Given the description of an element on the screen output the (x, y) to click on. 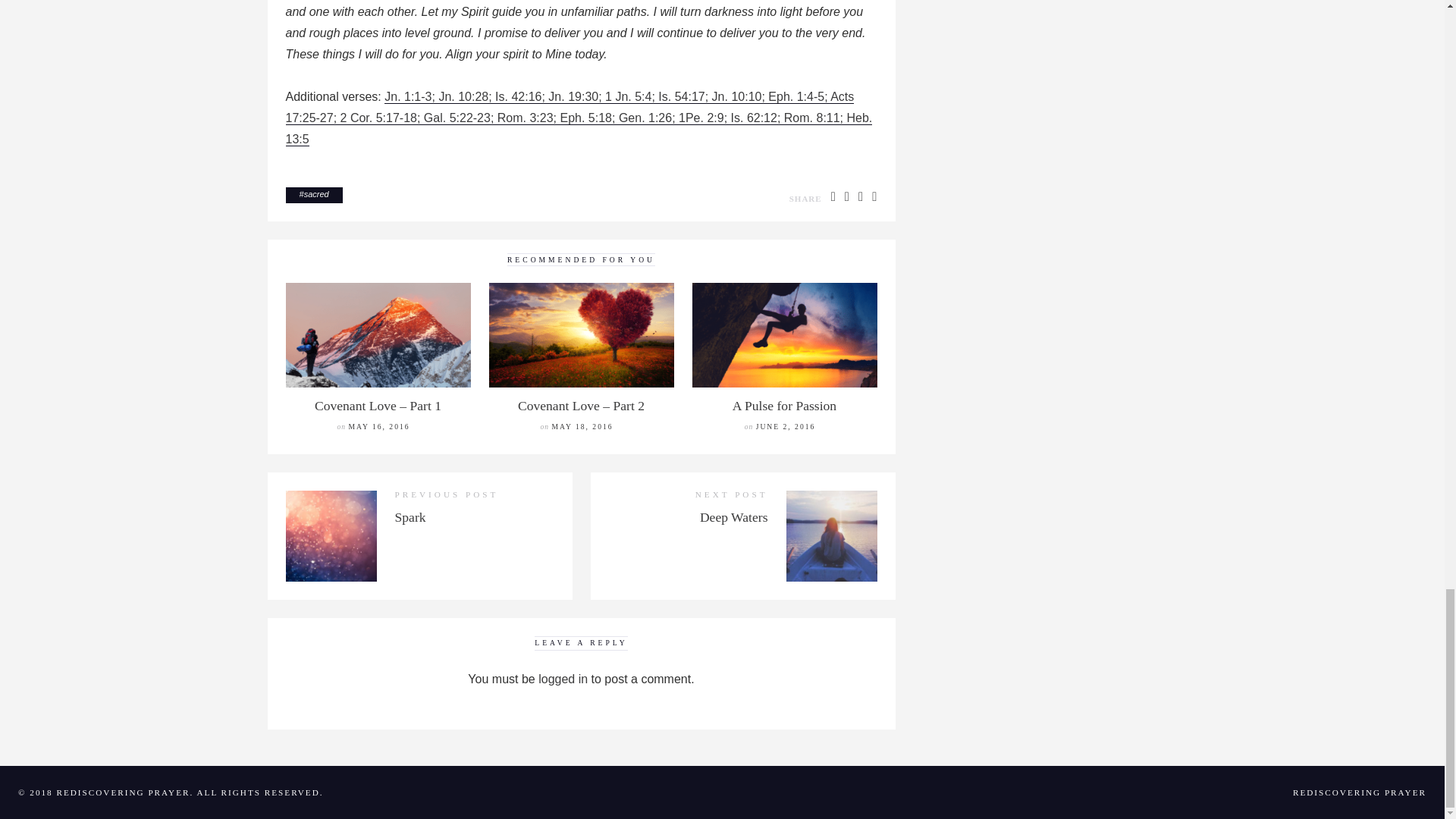
A Pulse for Passion (783, 405)
sacred (316, 194)
Spark (409, 516)
Deep Waters (734, 516)
logged in (563, 678)
